Given the description of an element on the screen output the (x, y) to click on. 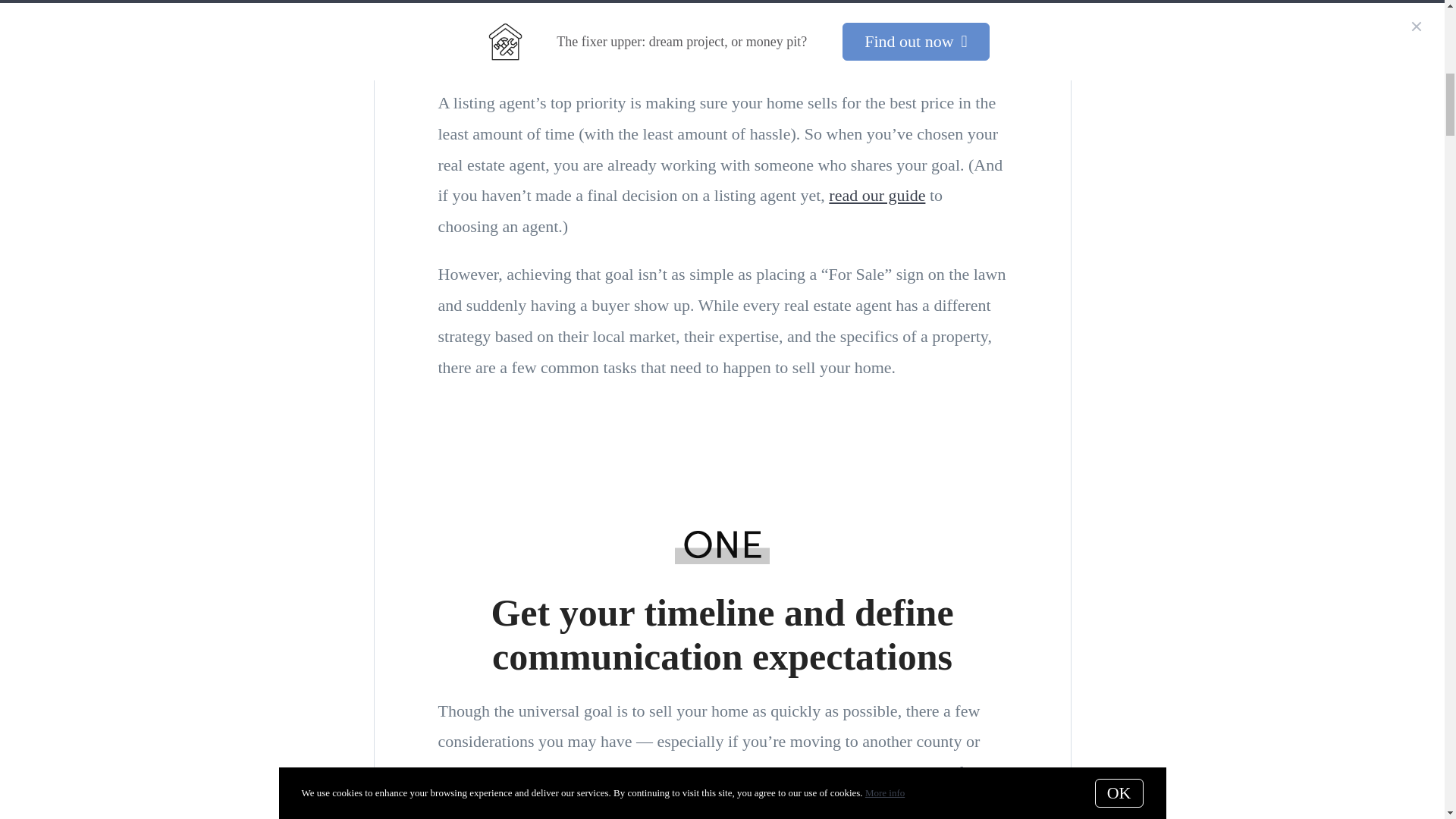
read our guide (876, 194)
